Given the description of an element on the screen output the (x, y) to click on. 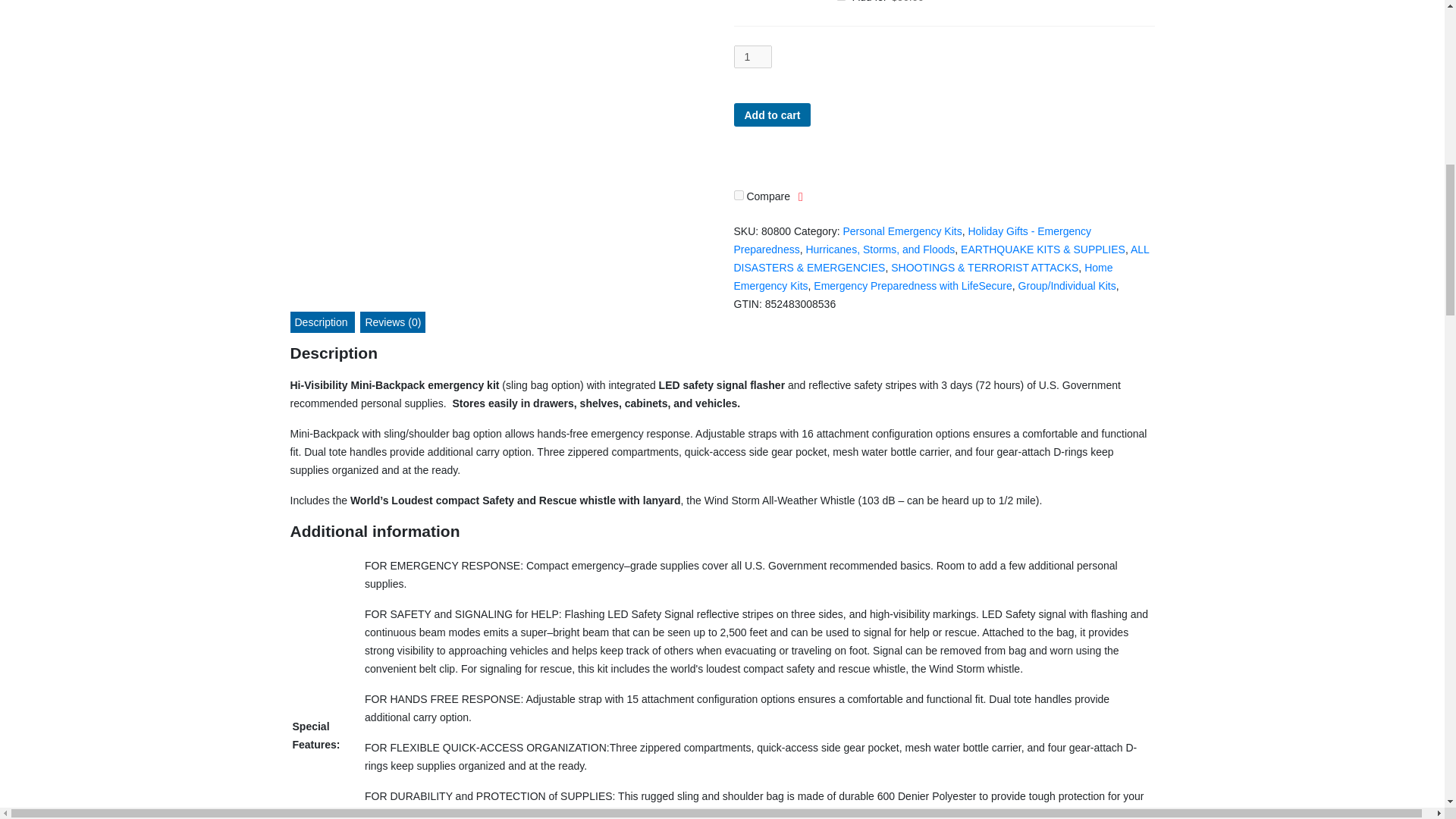
on (738, 194)
money (867, 115)
Qty (753, 56)
1 (753, 56)
